Given the description of an element on the screen output the (x, y) to click on. 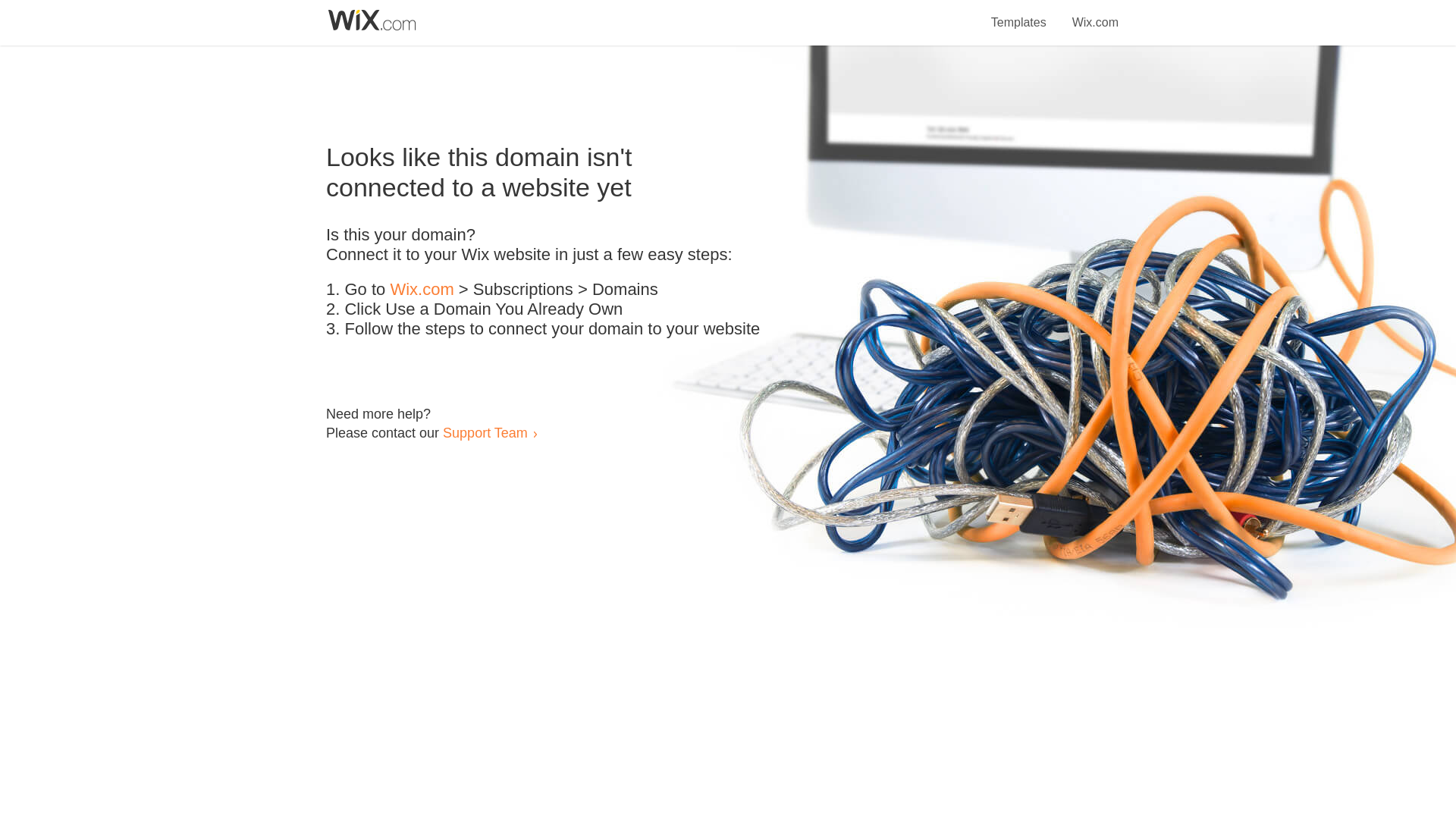
Wix.com (421, 289)
Templates (1018, 14)
Support Team (484, 432)
Wix.com (1095, 14)
